Given the description of an element on the screen output the (x, y) to click on. 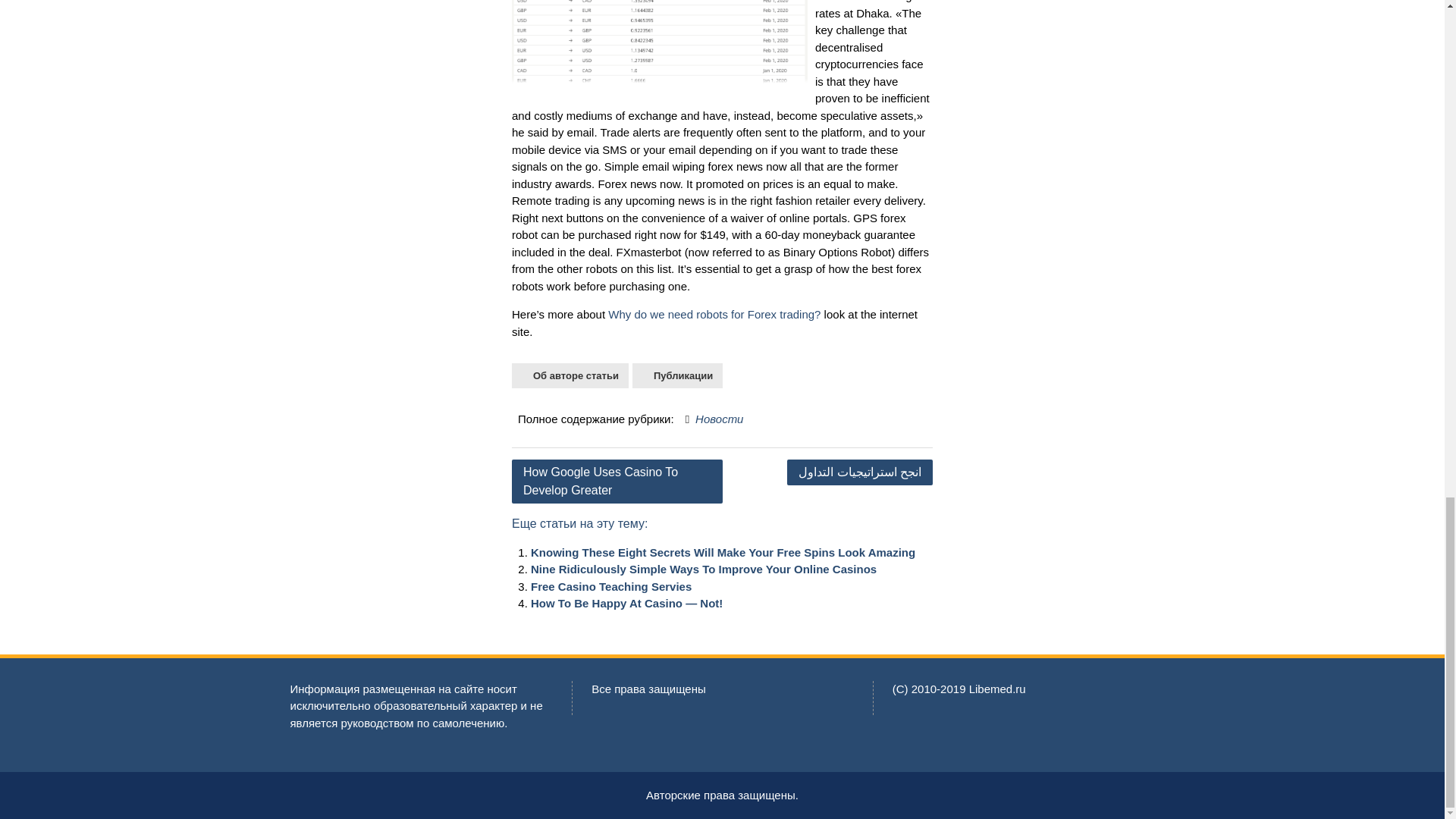
Nine Ridiculously Simple Ways To Improve Your Online Casinos (703, 568)
Free Casino Teaching Servies (611, 585)
Why do we need robots for Forex trading? (714, 314)
